Given the description of an element on the screen output the (x, y) to click on. 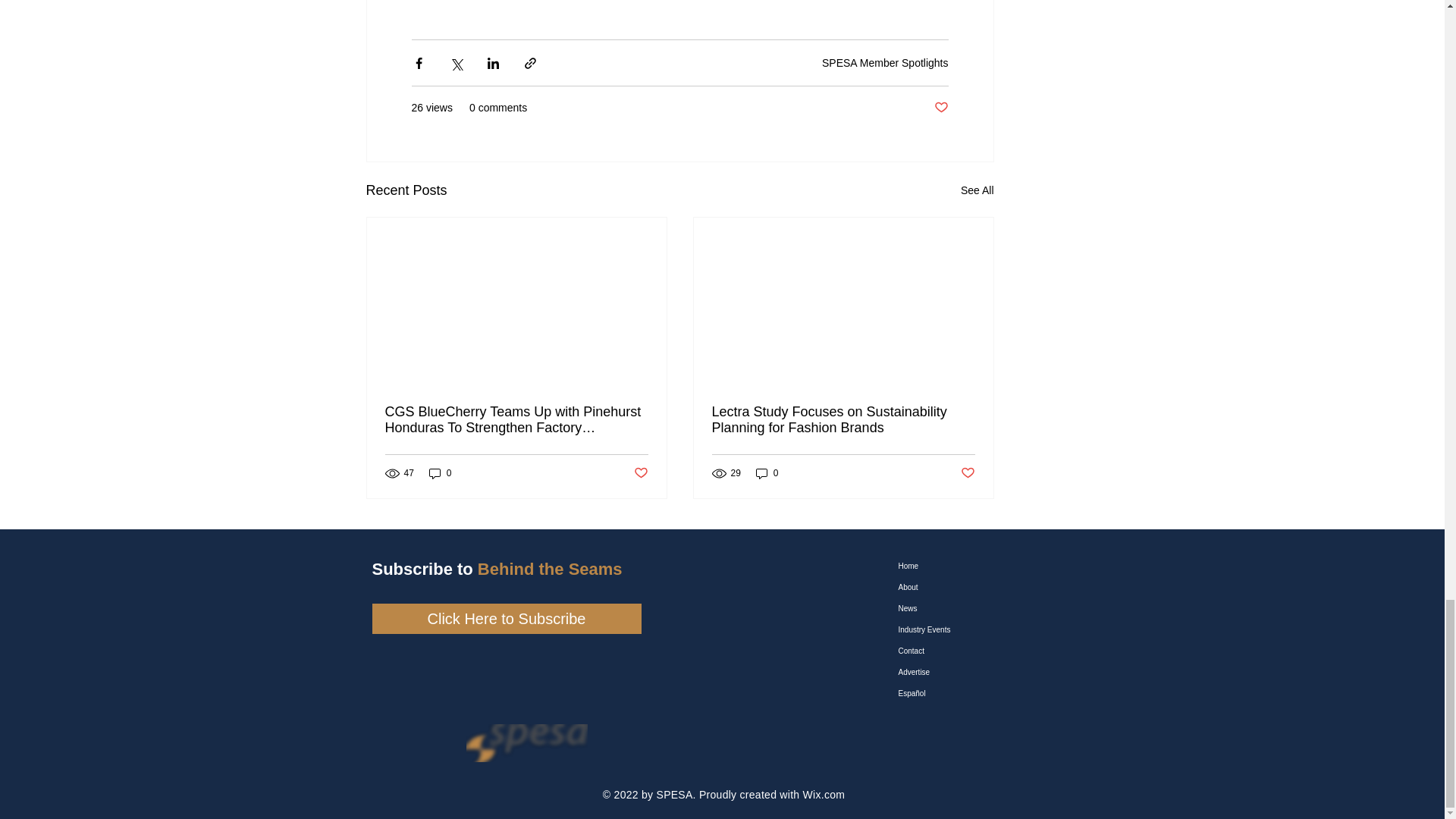
SPESA Member Spotlights (885, 62)
Post not marked as liked (640, 473)
See All (977, 190)
Post not marked as liked (941, 107)
0 (440, 473)
